Given the description of an element on the screen output the (x, y) to click on. 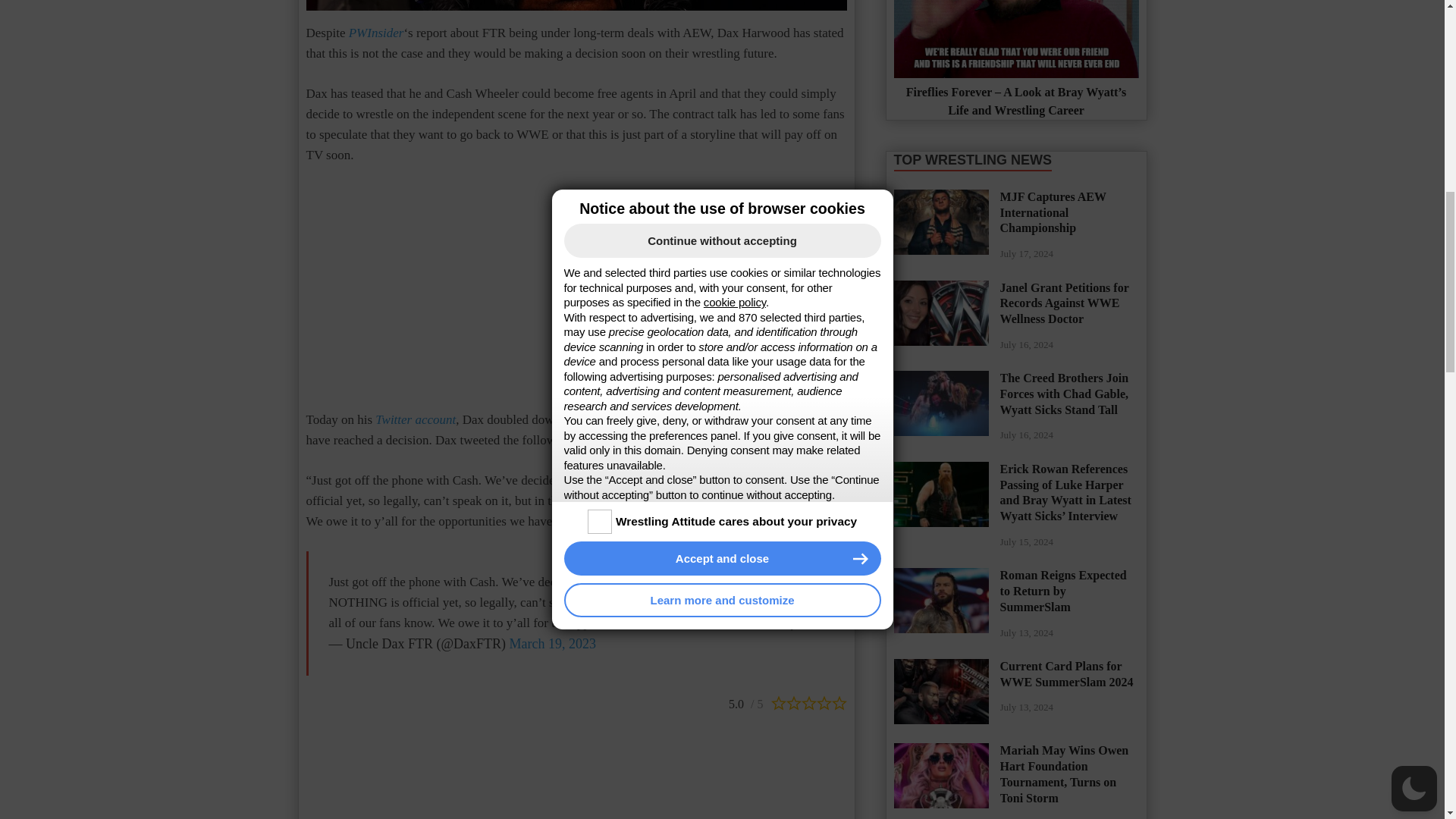
10 votes (747, 701)
MJF Captures AEW International Championship (940, 197)
MJF Captures AEW International Championship (940, 221)
